Given the description of an element on the screen output the (x, y) to click on. 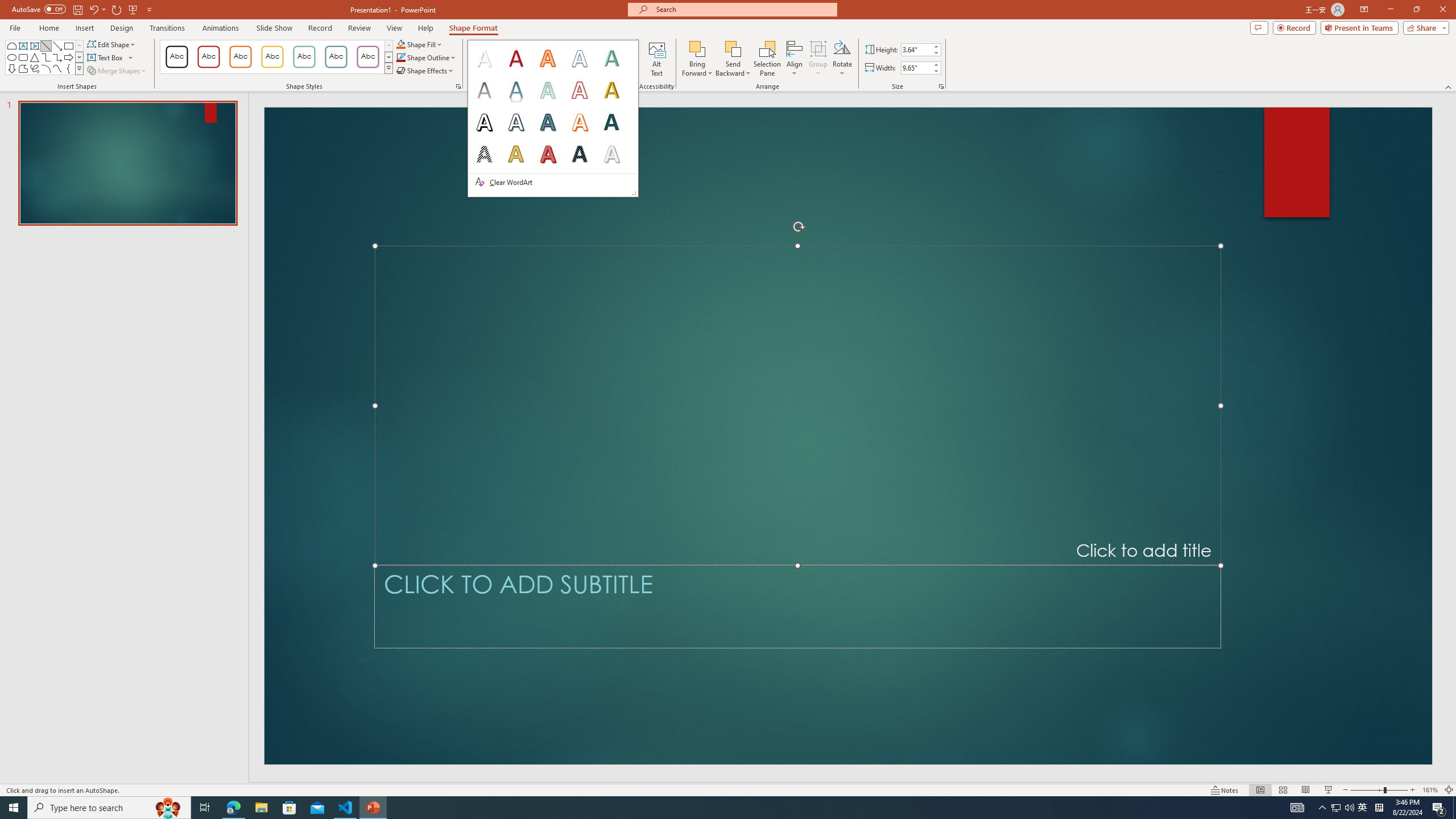
Shape Height (915, 49)
Colored Outline - Green, Accent 4 (304, 56)
Colored Outline - Blue-Gray, Accent 5 (336, 56)
